Given the description of an element on the screen output the (x, y) to click on. 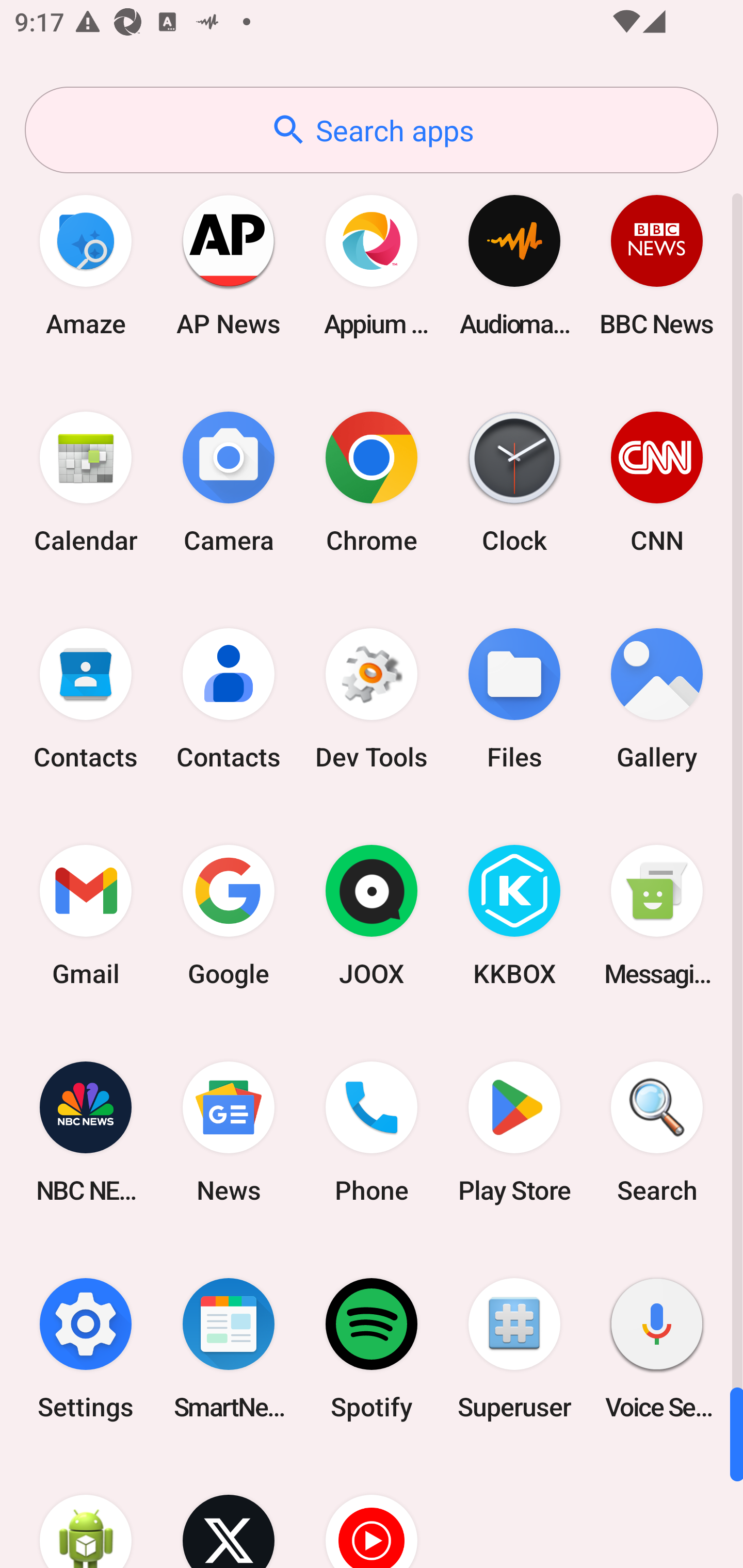
  Search apps (371, 130)
Amaze (85, 264)
AP News (228, 264)
Appium Settings (371, 264)
Audio­mack (514, 264)
BBC News (656, 264)
Calendar (85, 482)
Camera (228, 482)
Chrome (371, 482)
Clock (514, 482)
CNN (656, 482)
Contacts (85, 699)
Contacts (228, 699)
Dev Tools (371, 699)
Files (514, 699)
Gallery (656, 699)
Gmail (85, 915)
Google (228, 915)
JOOX (371, 915)
KKBOX (514, 915)
Messaging (656, 915)
NBC NEWS (85, 1131)
News (228, 1131)
Phone (371, 1131)
Play Store (514, 1131)
Search (656, 1131)
Settings (85, 1348)
SmartNews (228, 1348)
Spotify (371, 1348)
Superuser (514, 1348)
Voice Search (656, 1348)
